Given the description of an element on the screen output the (x, y) to click on. 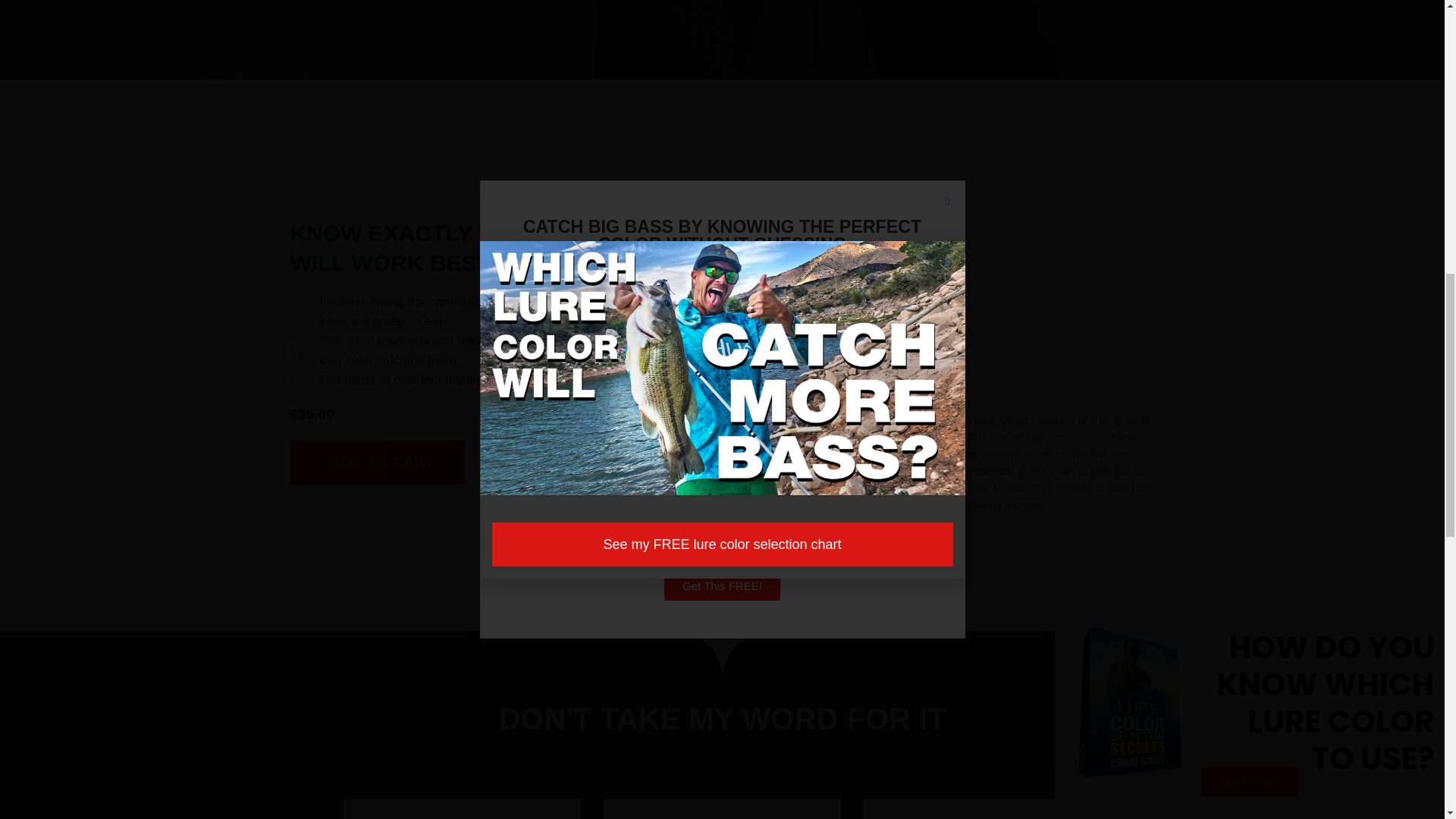
ADD TO CART (376, 462)
